Given the description of an element on the screen output the (x, y) to click on. 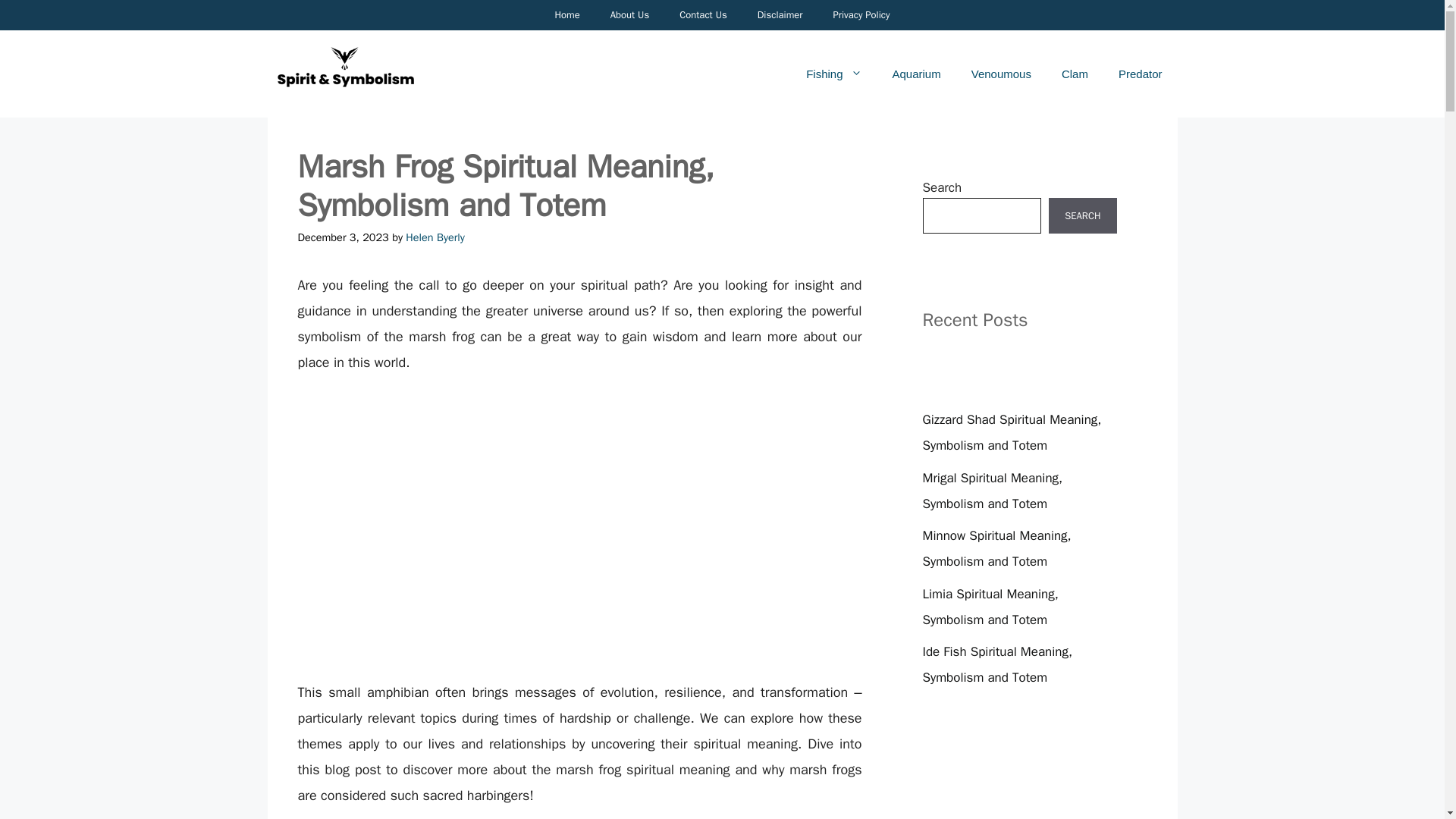
Helen Byerly (435, 237)
About Us (629, 15)
Contact Us (702, 15)
View all posts by Helen Byerly (435, 237)
Minnow Spiritual Meaning, Symbolism and Totem (995, 548)
Privacy Policy (860, 15)
SEARCH (1082, 216)
Home (566, 15)
Ide Fish Spiritual Meaning, Symbolism and Totem (996, 664)
Predator (1140, 74)
